Given the description of an element on the screen output the (x, y) to click on. 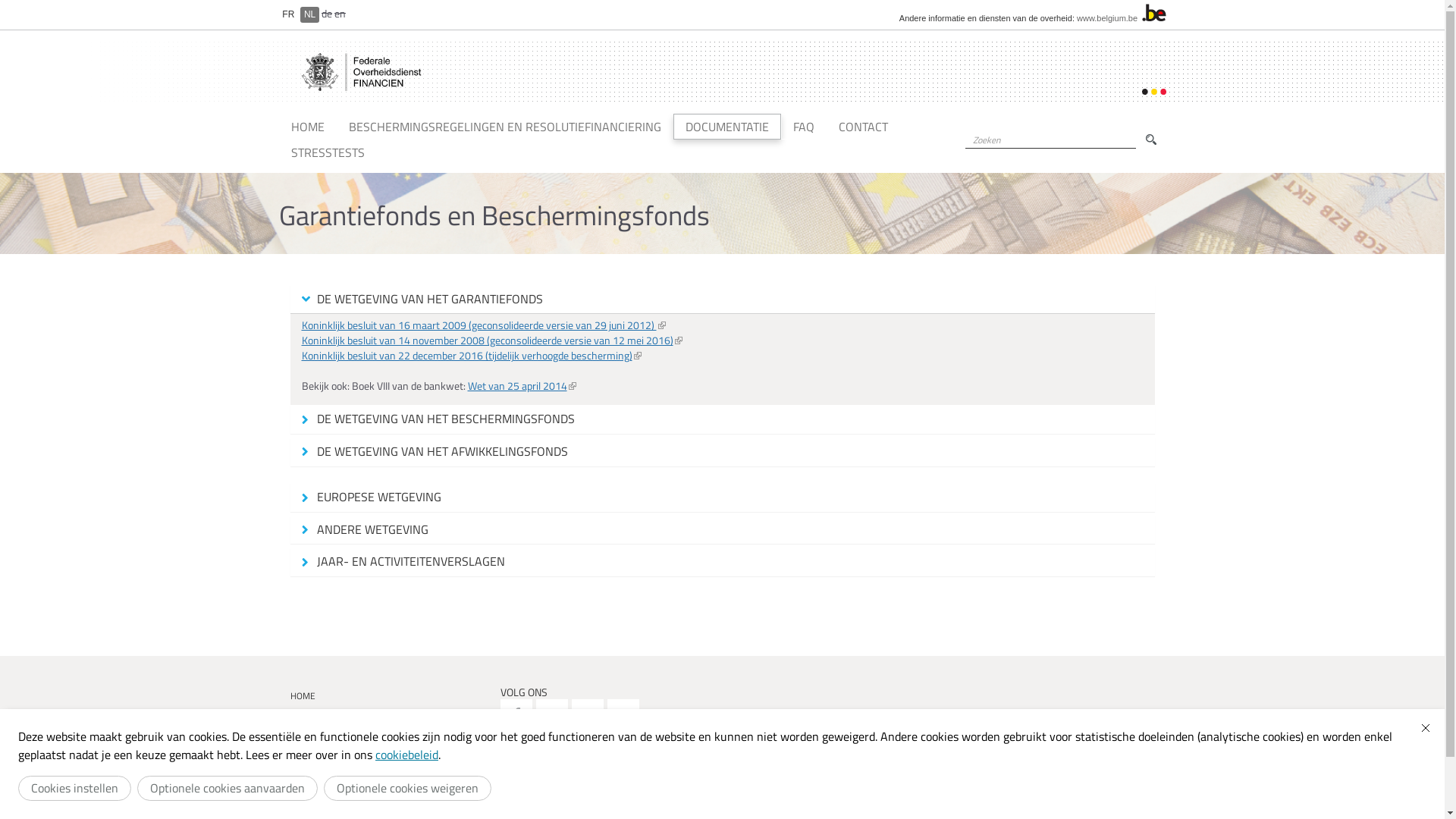
cookiebeleid Element type: text (406, 754)
STRESSTESTS Element type: text (327, 152)
ANDERE WETGEVING Element type: text (721, 529)
LinkedIn Element type: text (623, 715)
BESCHERMINGSREGELINGEN EN RESOLUTIEFINANCIERING Element type: text (389, 721)
Wet van 25 april 2014
(link is external) Element type: text (521, 385)
Optionele cookies aanvaarden Element type: text (227, 787)
Facebook Element type: text (516, 715)
Skip to main content Element type: text (17, 0)
YouTube Element type: text (587, 715)
EUROPESE WETGEVING Element type: text (721, 497)
Zoeken Element type: text (968, 155)
DOCUMENTATIE Element type: text (727, 126)
DE WETGEVING VAN HET AFWIKKELINGSFONDS Element type: text (721, 451)
FAQ Element type: text (389, 765)
DOCUMENTATIE Element type: text (389, 746)
Sluiten Element type: hover (1425, 727)
Enter the terms you wish to search for. Element type: hover (1049, 139)
HOME Element type: text (307, 126)
FAQ Element type: text (803, 126)
NL Element type: text (309, 13)
www.belgium.be Element type: text (1106, 17)
Twitter Element type: text (551, 715)
CONTACT Element type: text (389, 784)
Cookies instellen Element type: text (74, 787)
DE WETGEVING VAN HET BESCHERMINGSFONDS Element type: text (721, 418)
CONTACT Element type: text (863, 126)
Zoeken
Zoeken Element type: text (1150, 139)
FR Element type: text (288, 13)
JAAR- EN ACTIVITEITENVERSLAGEN Element type: text (721, 561)
STRESSTESTS Element type: text (389, 803)
Return to the Garantiefonds en Beschermingsfonds homepage Element type: hover (363, 72)
BESCHERMINGSREGELINGEN EN RESOLUTIEFINANCIERING Element type: text (504, 126)
DE WETGEVING VAN HET GARANTIEFONDS Element type: text (721, 299)
Optionele cookies weigeren Element type: text (407, 787)
HOME Element type: text (389, 695)
